Given the description of an element on the screen output the (x, y) to click on. 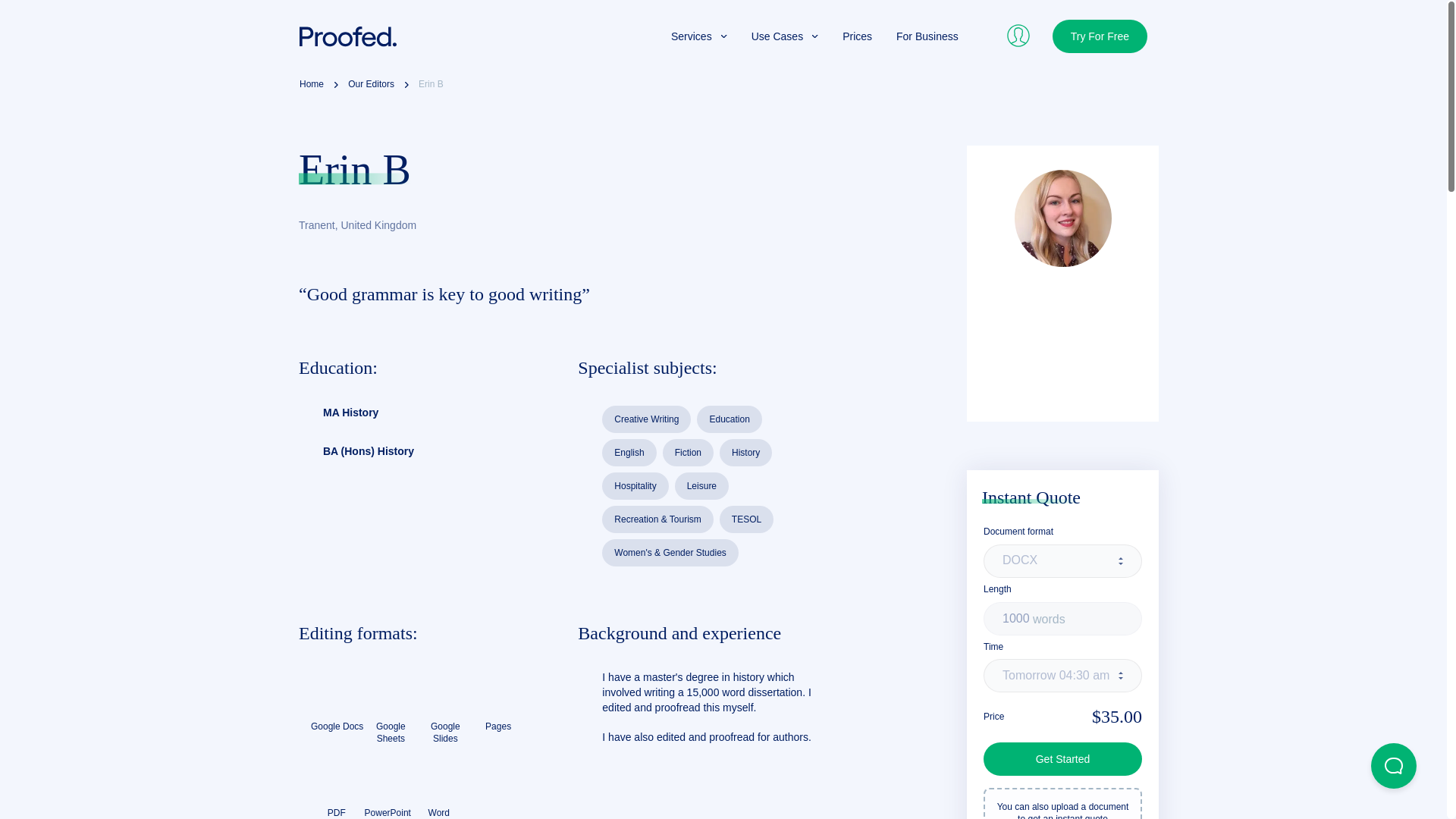
1000 (1062, 618)
Home (311, 84)
PDF (336, 787)
Prices (857, 36)
Pages (498, 701)
Google Slides (444, 707)
Try For Free (1099, 36)
Google Docs (336, 701)
Google Sheets (390, 707)
PowerPoint (387, 787)
Proofed Logo (347, 35)
Word (438, 787)
Get Started (1062, 758)
For Business (927, 36)
Our Editors (370, 84)
